Given the description of an element on the screen output the (x, y) to click on. 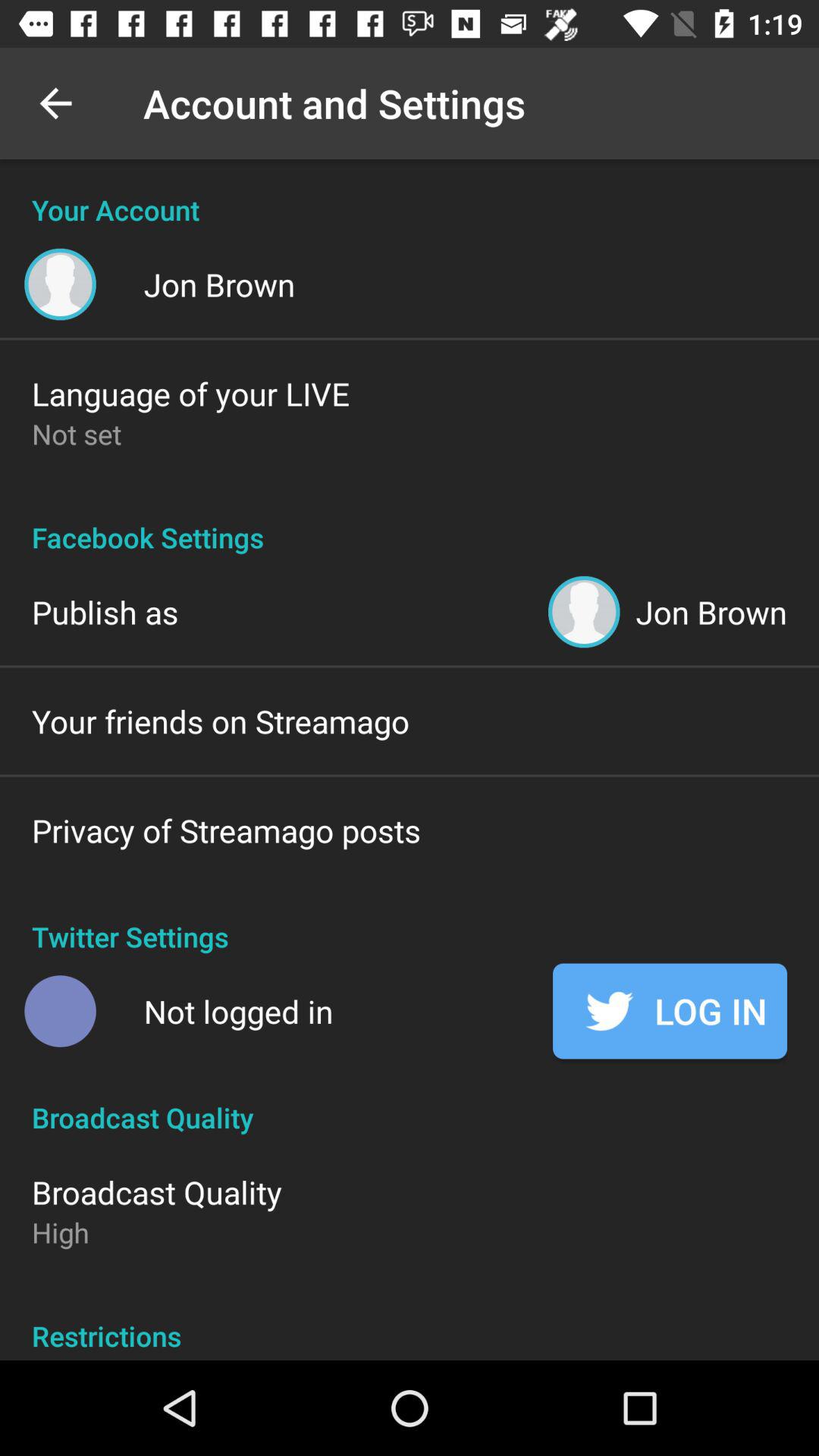
jump until your account icon (409, 193)
